Given the description of an element on the screen output the (x, y) to click on. 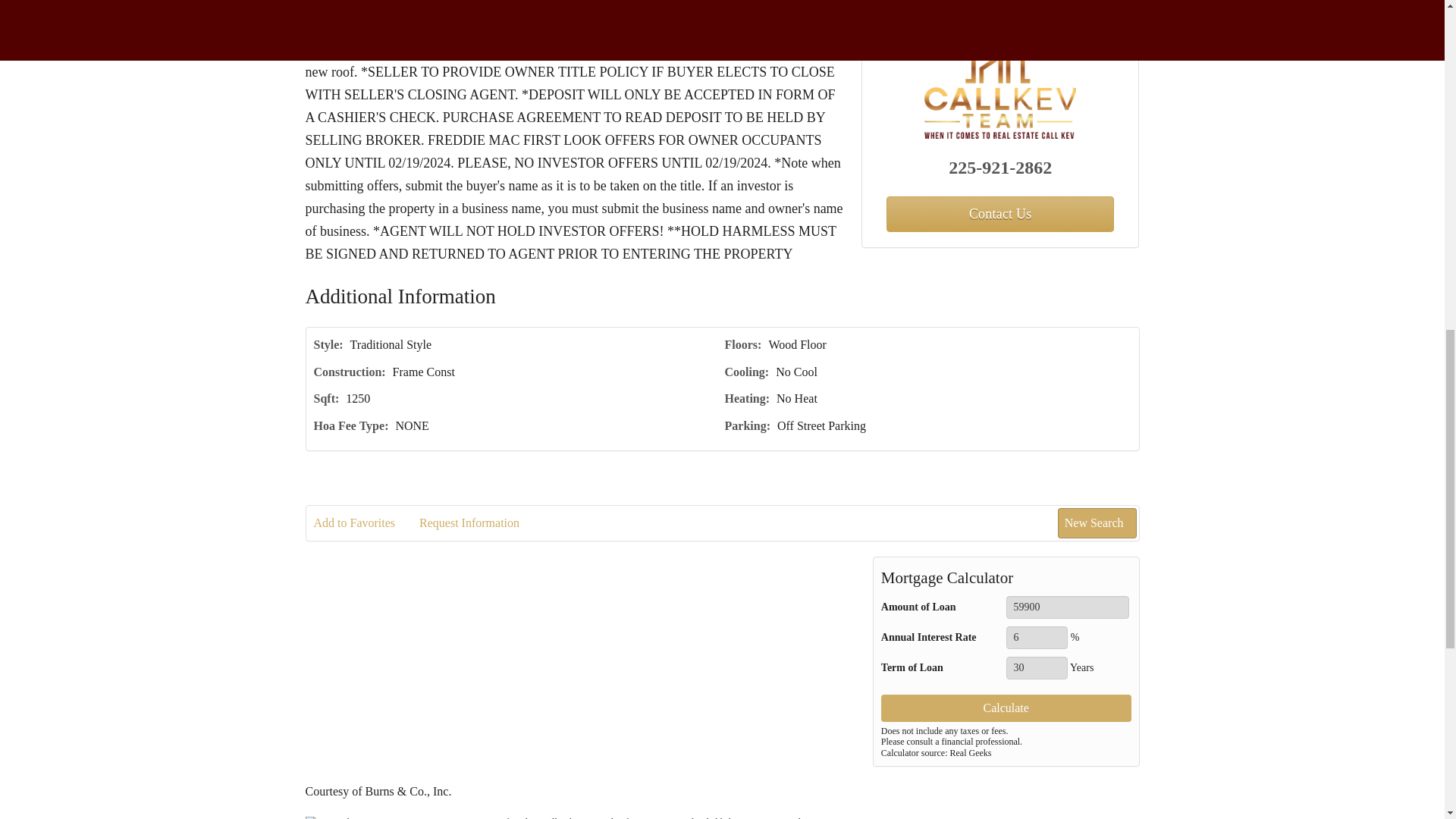
59900 (1067, 607)
225-921-2862 (1000, 166)
30 (1036, 667)
6 (1036, 637)
Contact Us (999, 213)
